Given the description of an element on the screen output the (x, y) to click on. 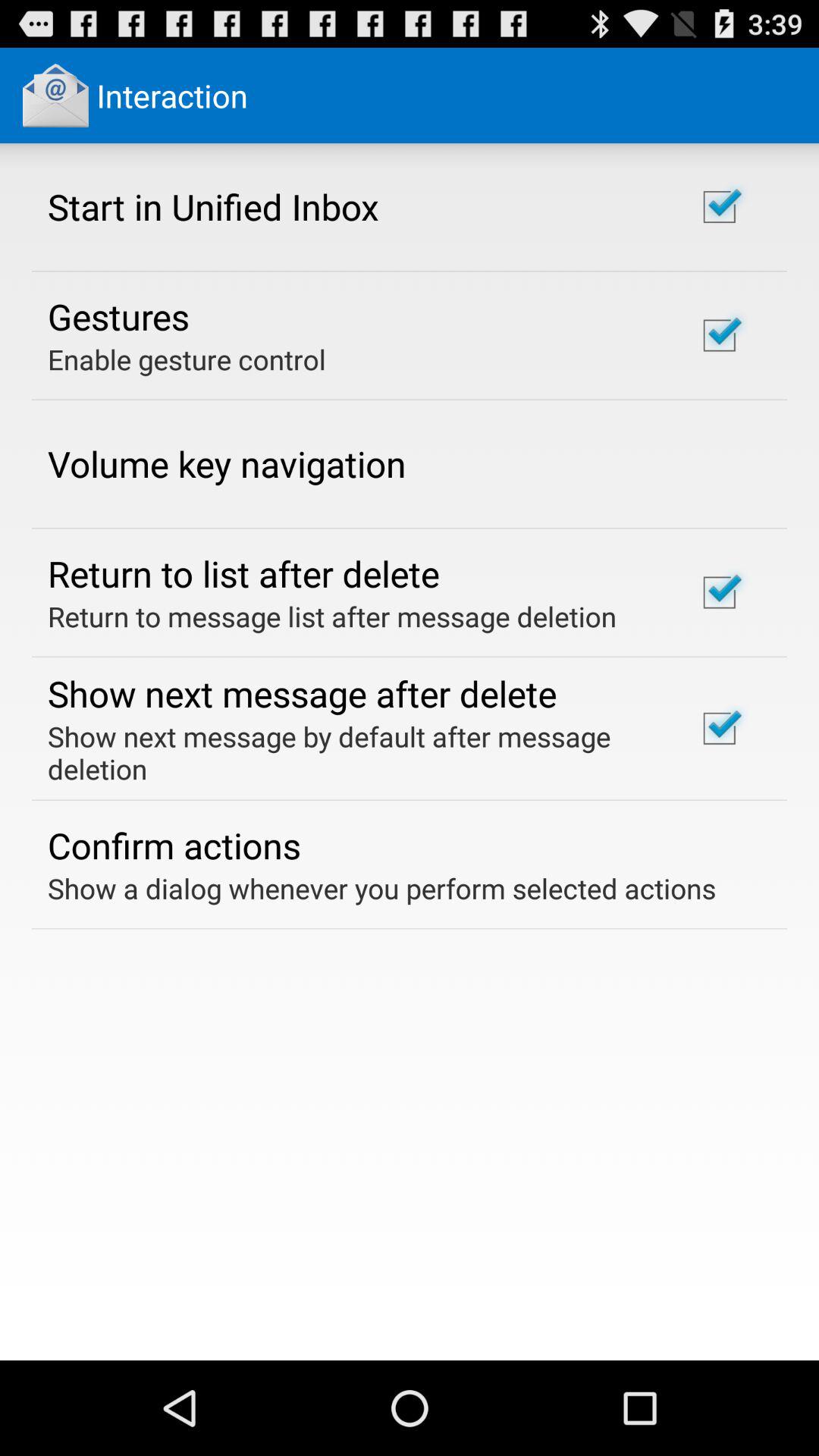
launch item above the enable gesture control icon (118, 316)
